Given the description of an element on the screen output the (x, y) to click on. 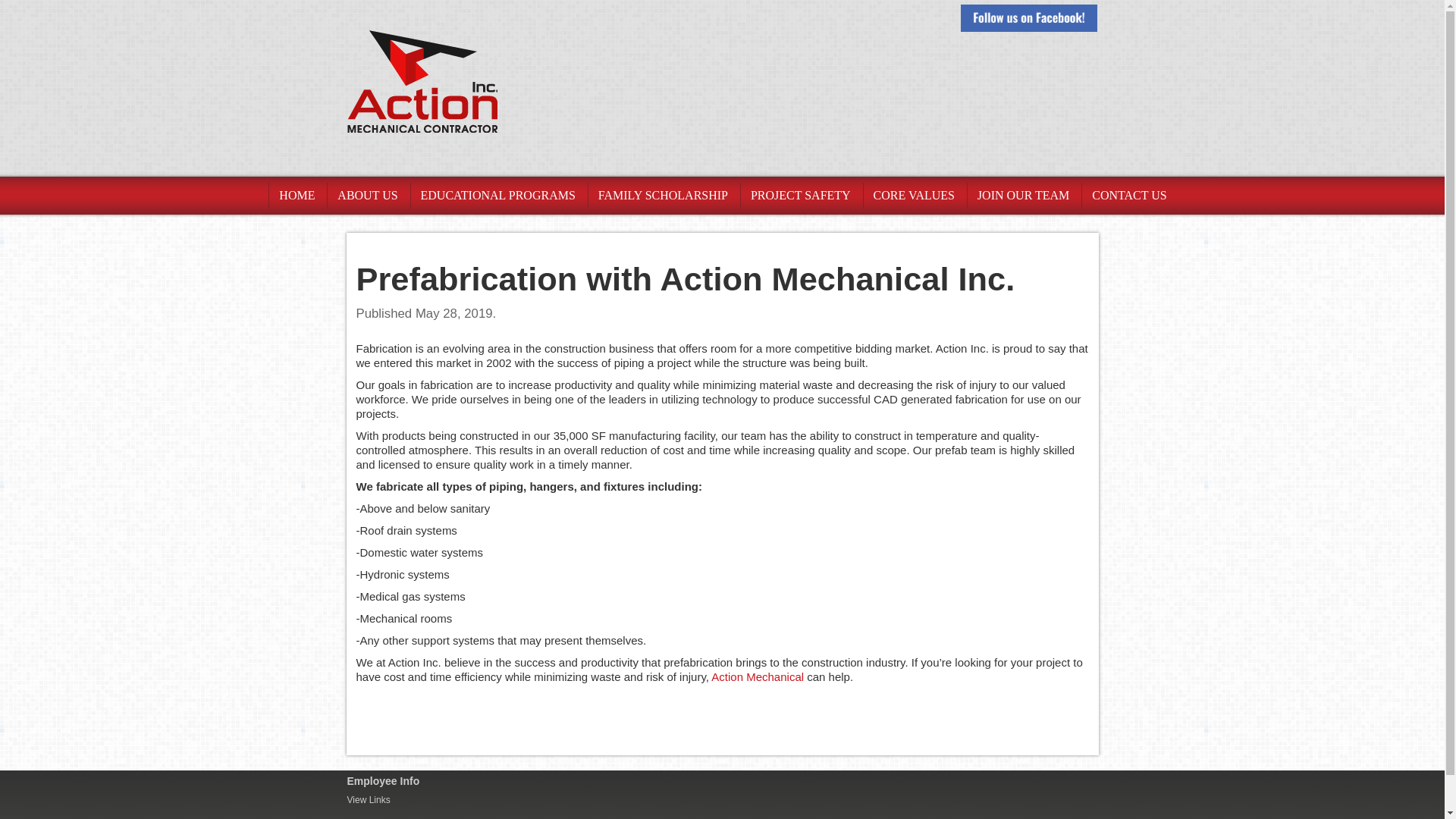
Action Mechanical (757, 676)
CORE VALUES (913, 195)
CONTACT US (1127, 195)
PROJECT SAFETY (800, 195)
HOME (296, 195)
EDUCATIONAL PROGRAMS (497, 195)
View Links (371, 799)
ABOUT US (366, 195)
FAMILY SCHOLARSHIP (662, 195)
JOIN OUR TEAM (1023, 195)
